Given the description of an element on the screen output the (x, y) to click on. 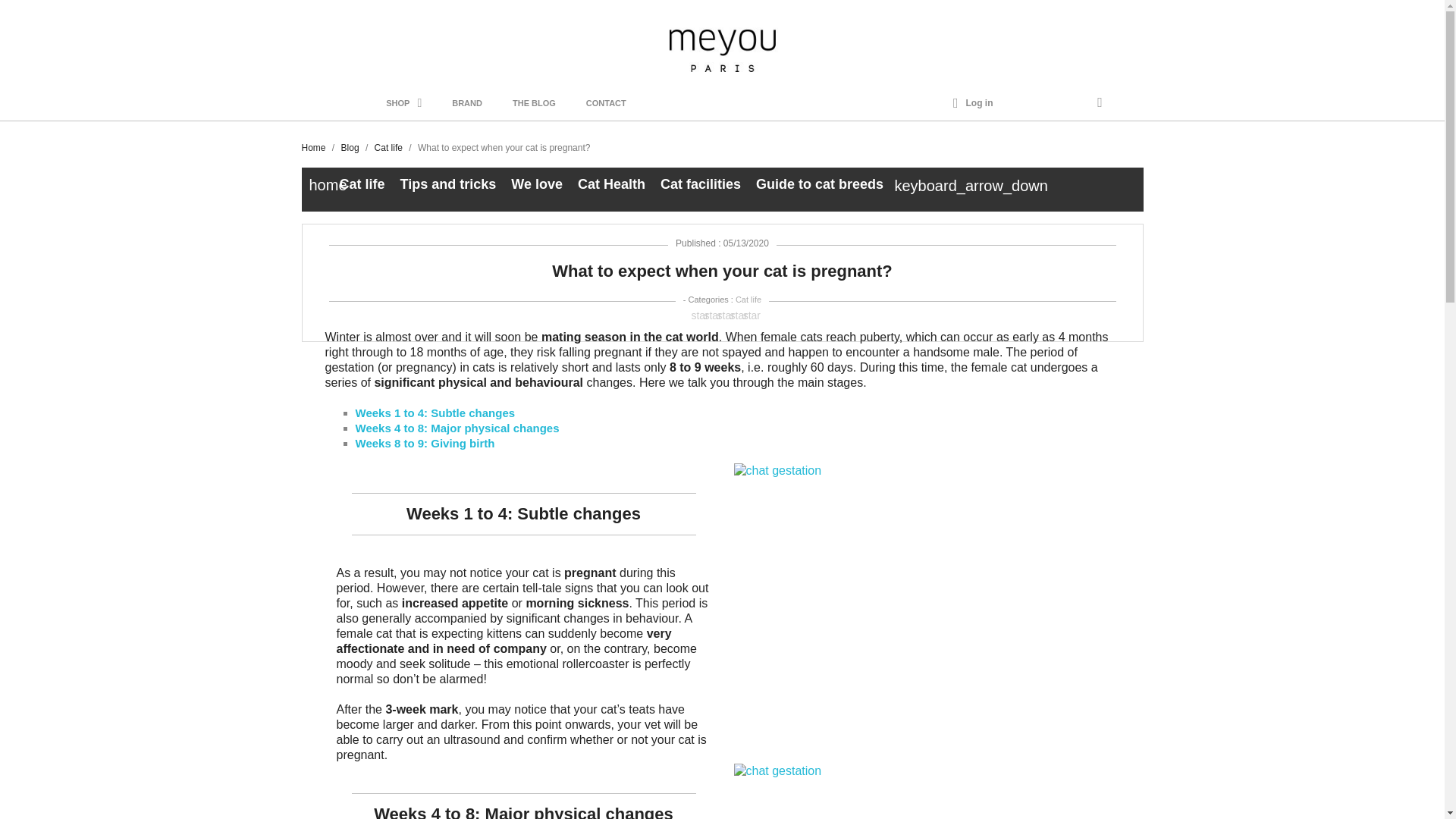
Log in (973, 102)
SHOP (403, 102)
CONTACT (606, 102)
BRAND (466, 102)
THE BLOG (533, 102)
